Given the description of an element on the screen output the (x, y) to click on. 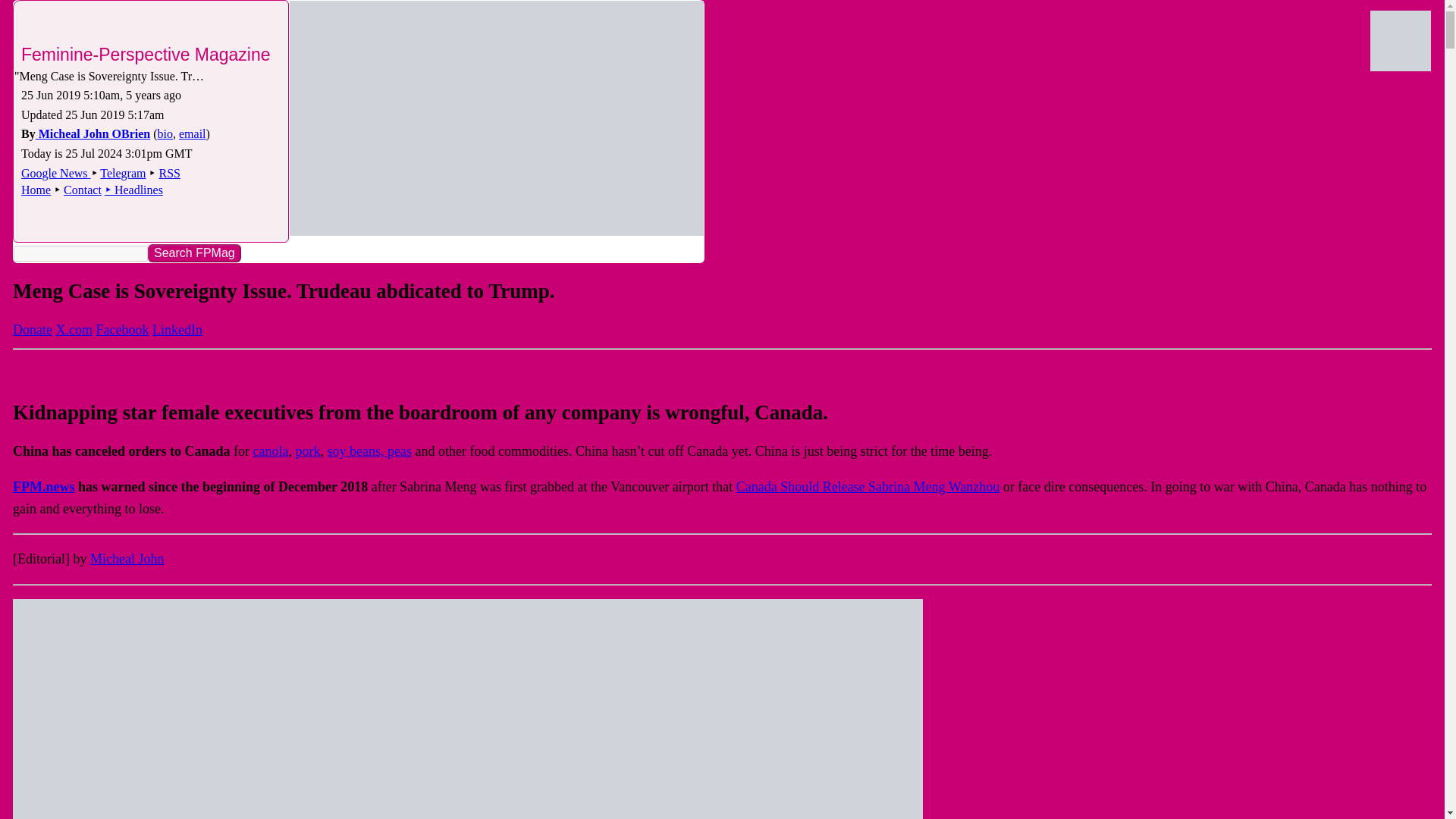
Search FPMag (194, 253)
LinkedIn (177, 329)
World News from a Feminine Perspective (496, 117)
Contact (82, 189)
Google News (55, 173)
RSS (168, 173)
Article Published on (100, 94)
Search FPMag (194, 253)
Feminine-Perspective listing of the latest articles. (133, 189)
Biography of Micheal John OBrien (165, 133)
Meng Case is Sovereignty Issue. Trudeau abdicated to Trump. (111, 76)
Telegram (122, 173)
Send an email to  (192, 133)
Canada Should Release Sabrina Meng Wanzhou (868, 486)
